Given the description of an element on the screen output the (x, y) to click on. 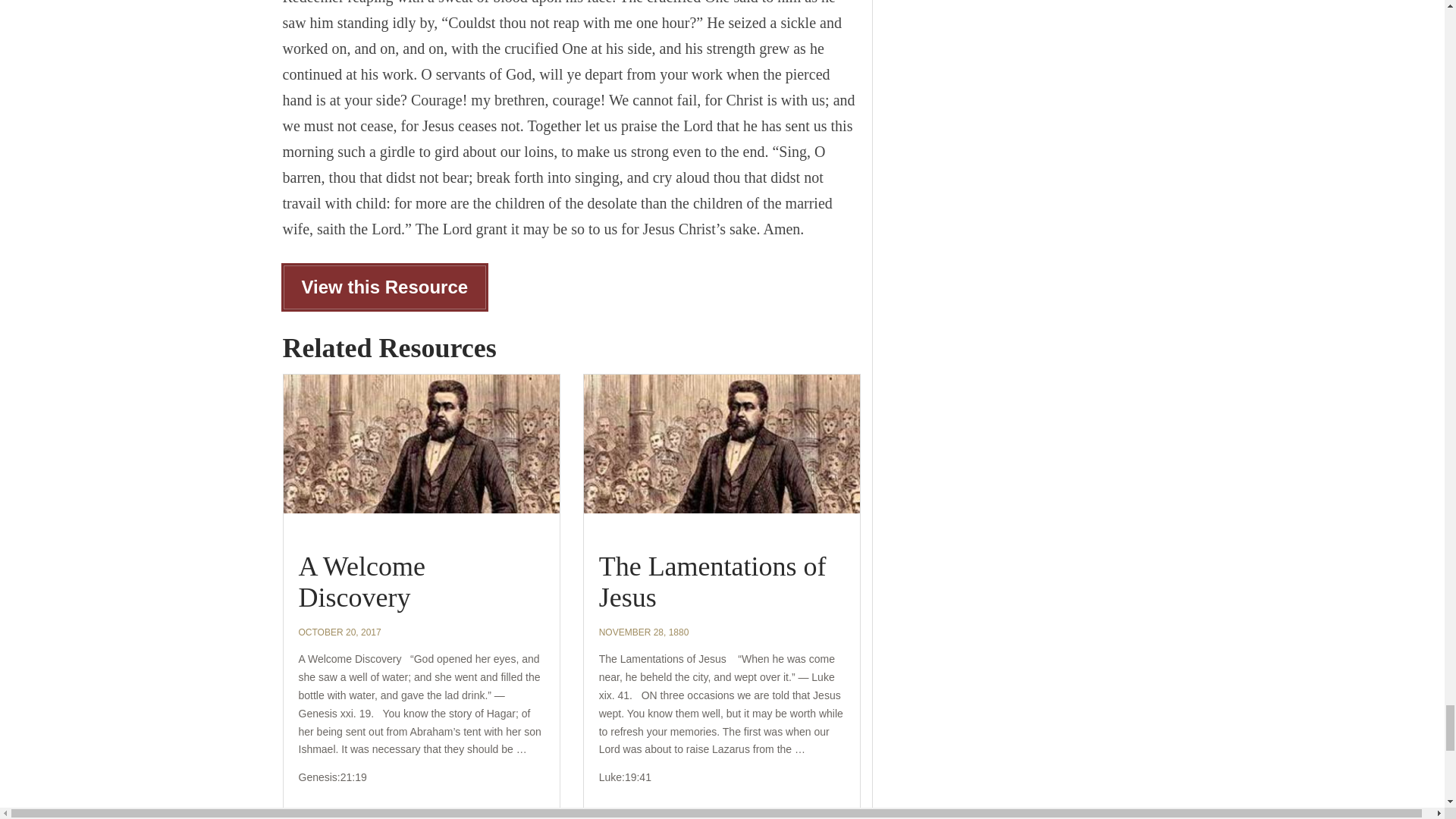
The Lamentations of Jesus (712, 582)
A Welcome Discovery (361, 582)
View this Resource (384, 287)
